Given the description of an element on the screen output the (x, y) to click on. 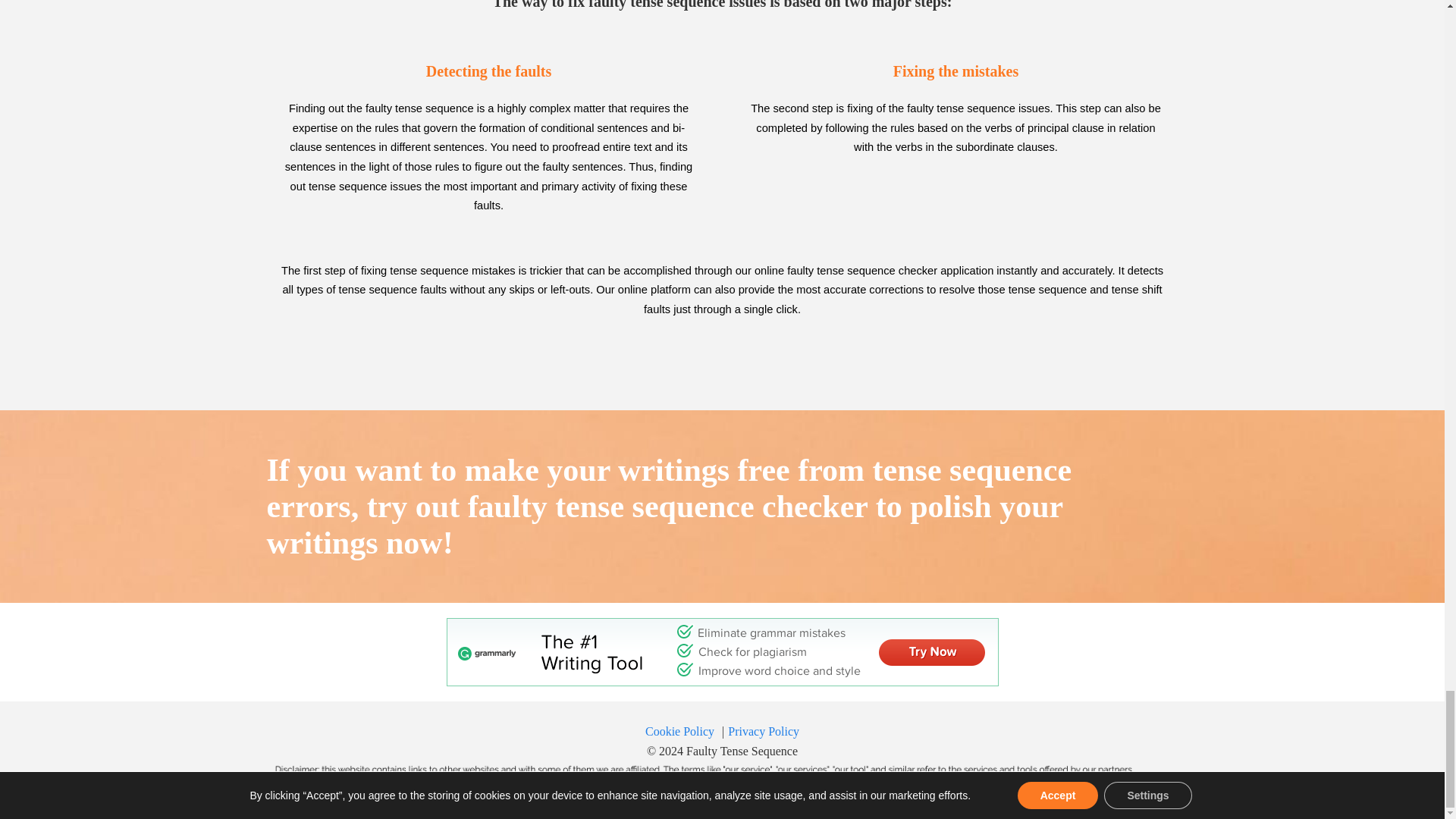
Cookie Policy (679, 730)
Privacy Policy (763, 730)
